Given the description of an element on the screen output the (x, y) to click on. 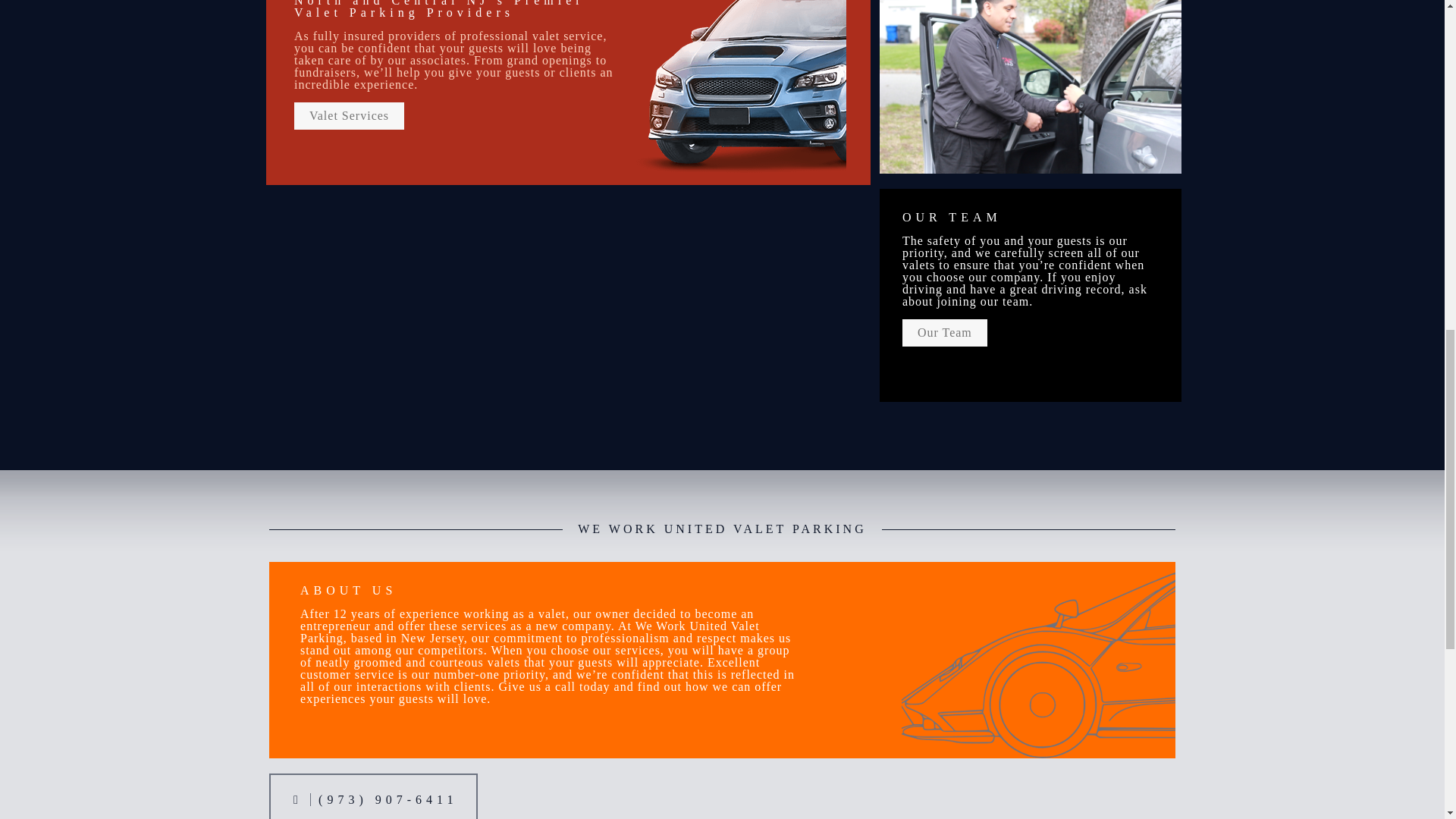
Our Team (944, 332)
Valet Services (349, 115)
ABOUT US (347, 590)
